Given the description of an element on the screen output the (x, y) to click on. 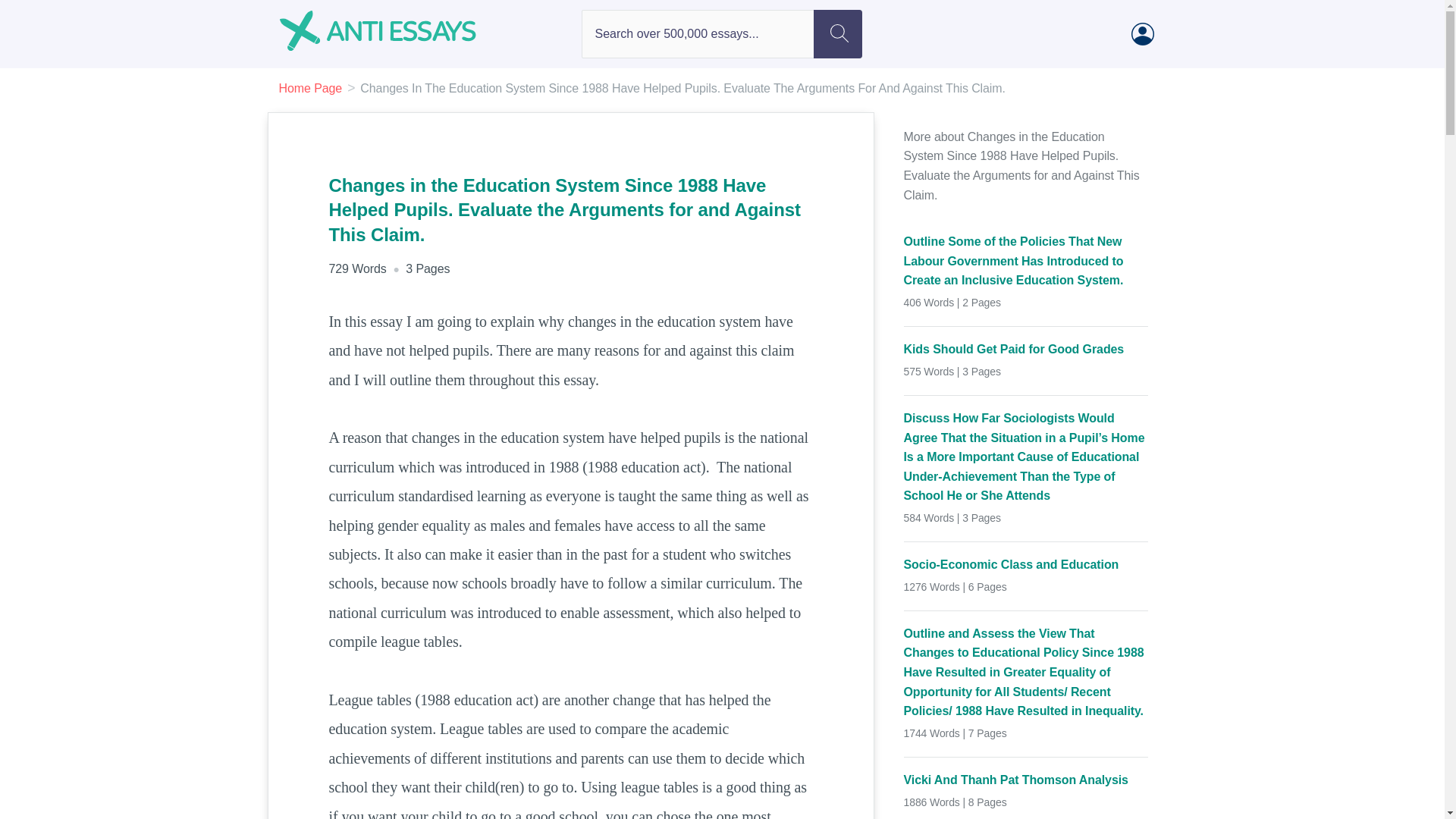
Socio-Economic Class and Education (1026, 564)
Vicki And Thanh Pat Thomson Analysis (1026, 780)
Home Page (310, 88)
Kids Should Get Paid for Good Grades (1026, 349)
